Given the description of an element on the screen output the (x, y) to click on. 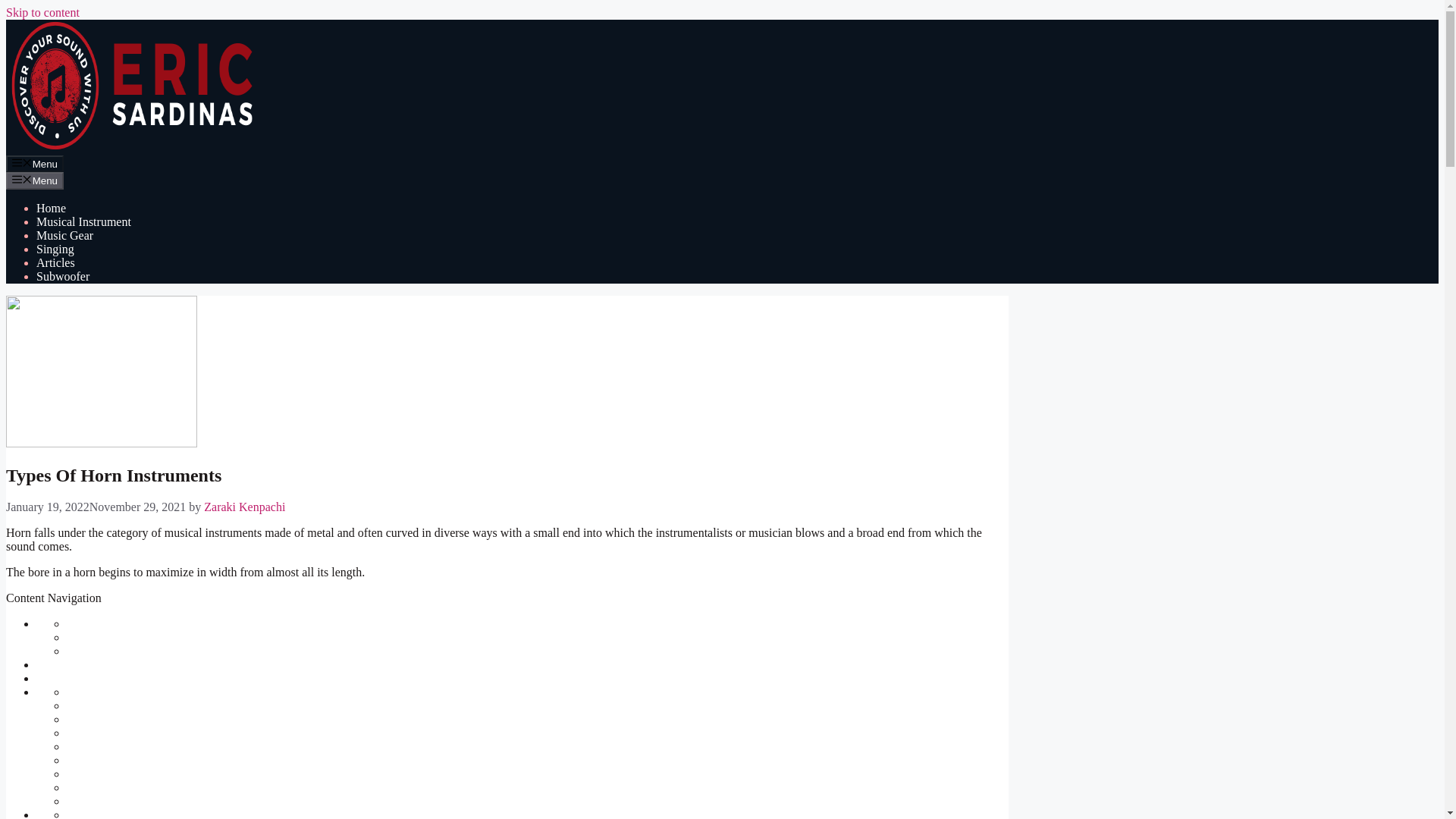
Menu (34, 163)
Zaraki Kenpachi (244, 506)
View all posts by Zaraki Kenpachi (244, 506)
Singing (55, 248)
Skip to content (42, 11)
Skip to content (42, 11)
Subwoofer (62, 276)
Music Gear (64, 235)
Articles (55, 262)
Home (50, 207)
